Given the description of an element on the screen output the (x, y) to click on. 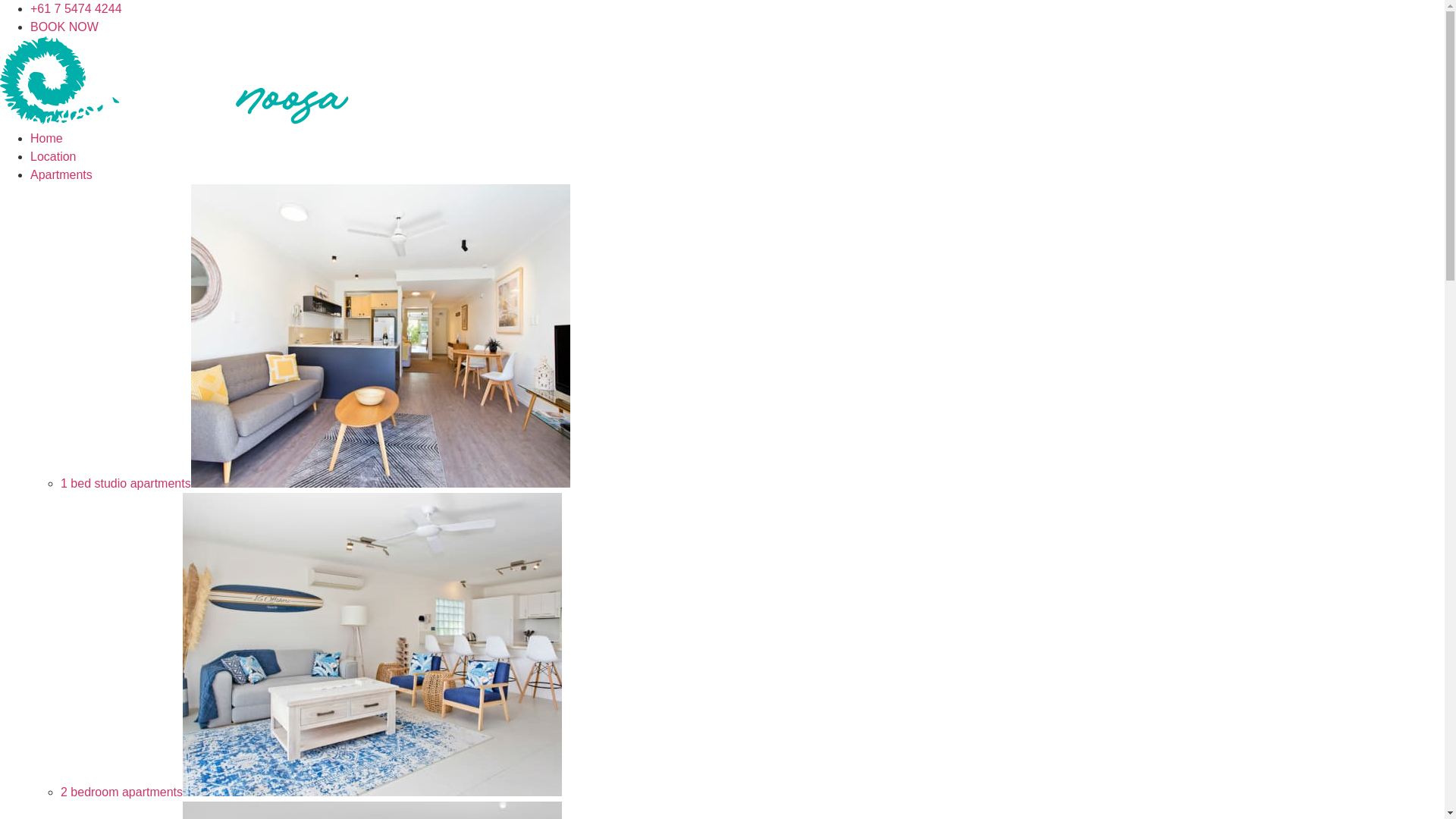
Home Element type: text (46, 137)
Apartments Element type: text (61, 174)
+61 7 5474 4244 Element type: text (76, 8)
Location Element type: text (53, 156)
1 bed studio apartments Element type: text (315, 482)
2 bedroom apartments Element type: text (310, 791)
BOOK NOW Element type: text (64, 26)
